Given the description of an element on the screen output the (x, y) to click on. 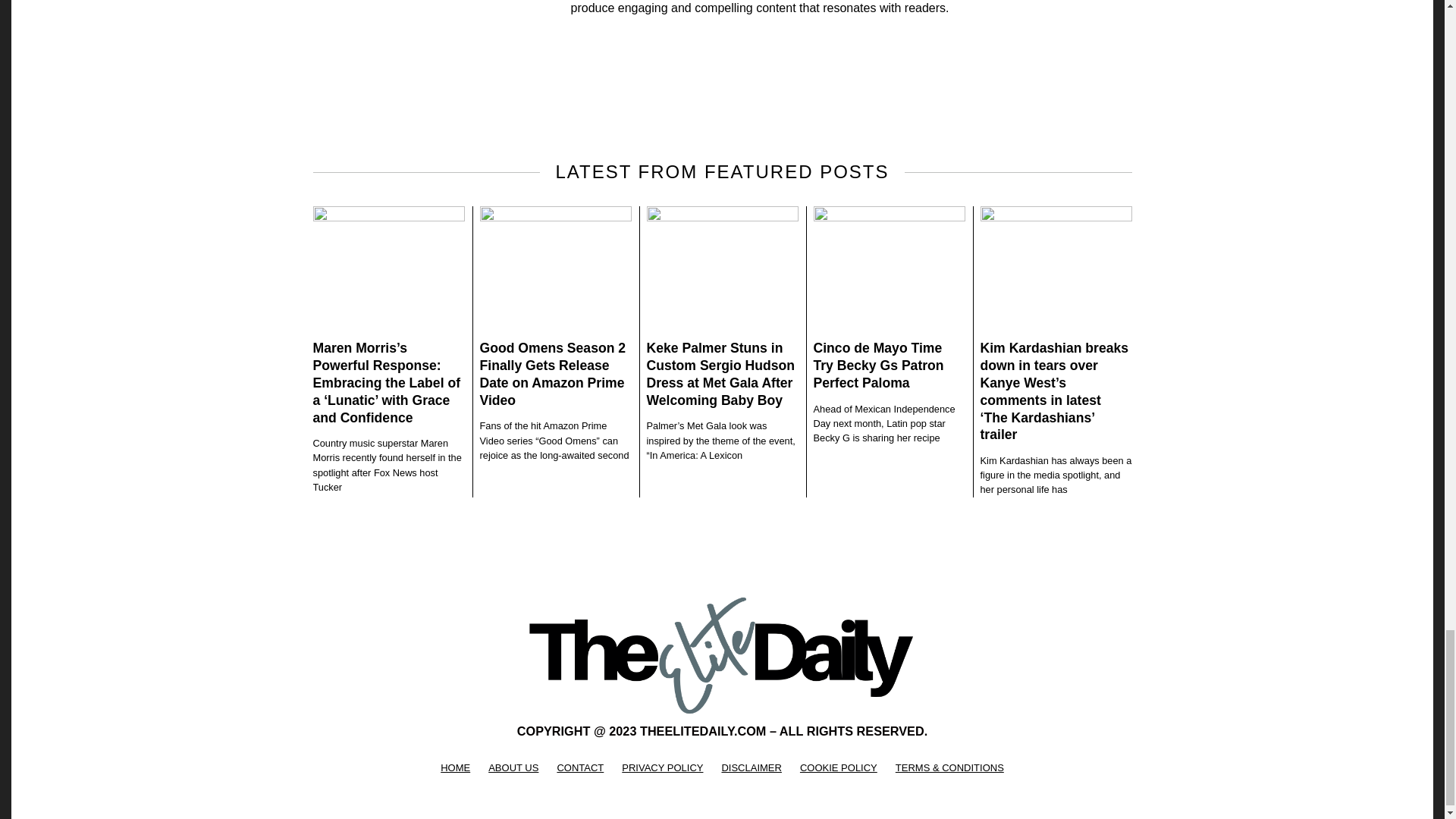
DISCLAIMER (750, 767)
HOME (454, 767)
Cinco de Mayo Time Try Becky Gs Patron Perfect Paloma (877, 365)
CONTACT (579, 767)
PRIVACY POLICY (661, 767)
ABOUT US (513, 767)
